Given the description of an element on the screen output the (x, y) to click on. 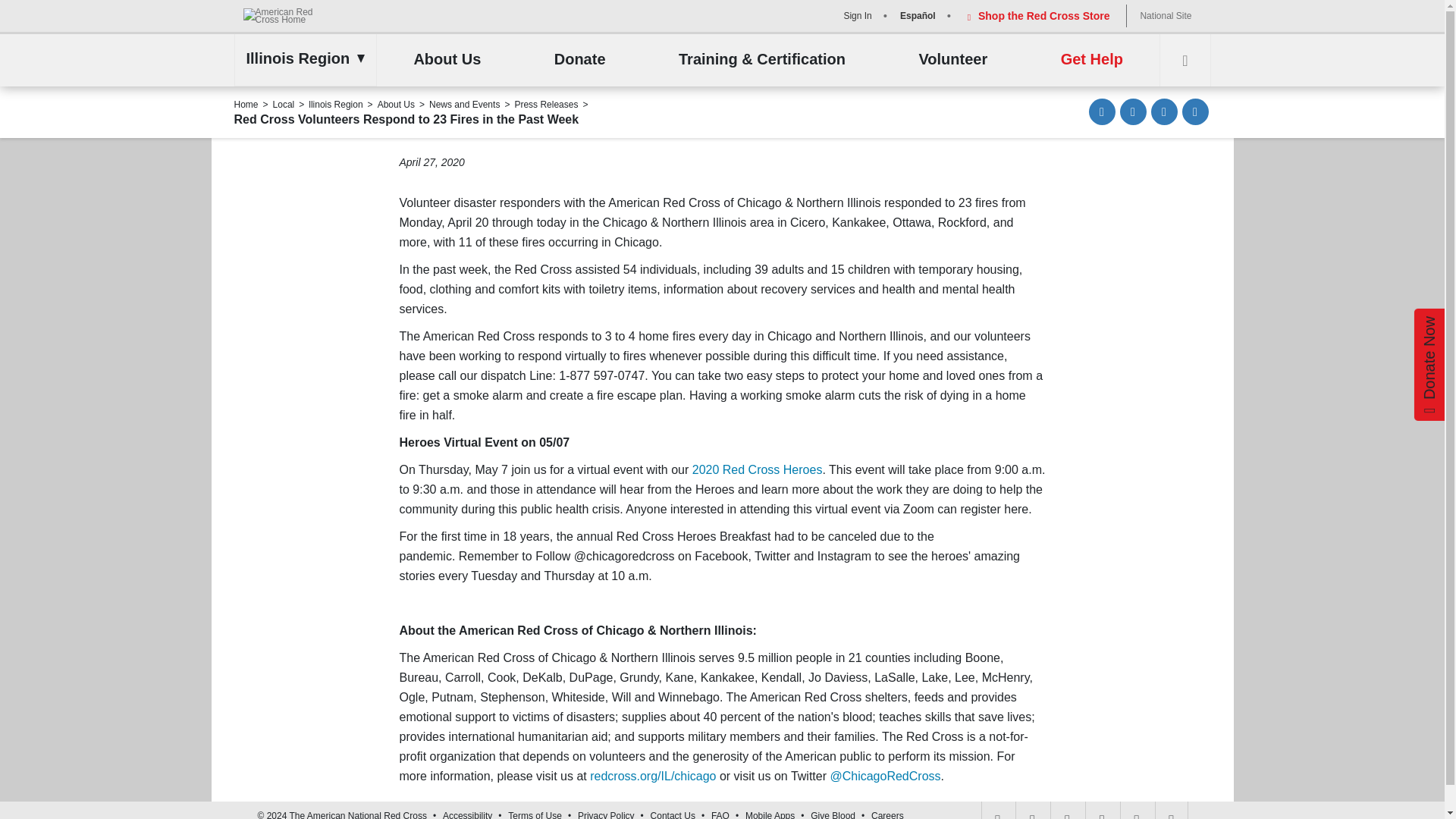
Illinois Region (301, 57)
Share on Facebook (1132, 111)
About Us (446, 59)
National Site (1164, 15)
Tweet (1164, 111)
Sign In (855, 15)
Donate (579, 59)
Shop the Red Cross Store (1035, 15)
Share via Email (1102, 111)
Other share options (1194, 111)
